Given the description of an element on the screen output the (x, y) to click on. 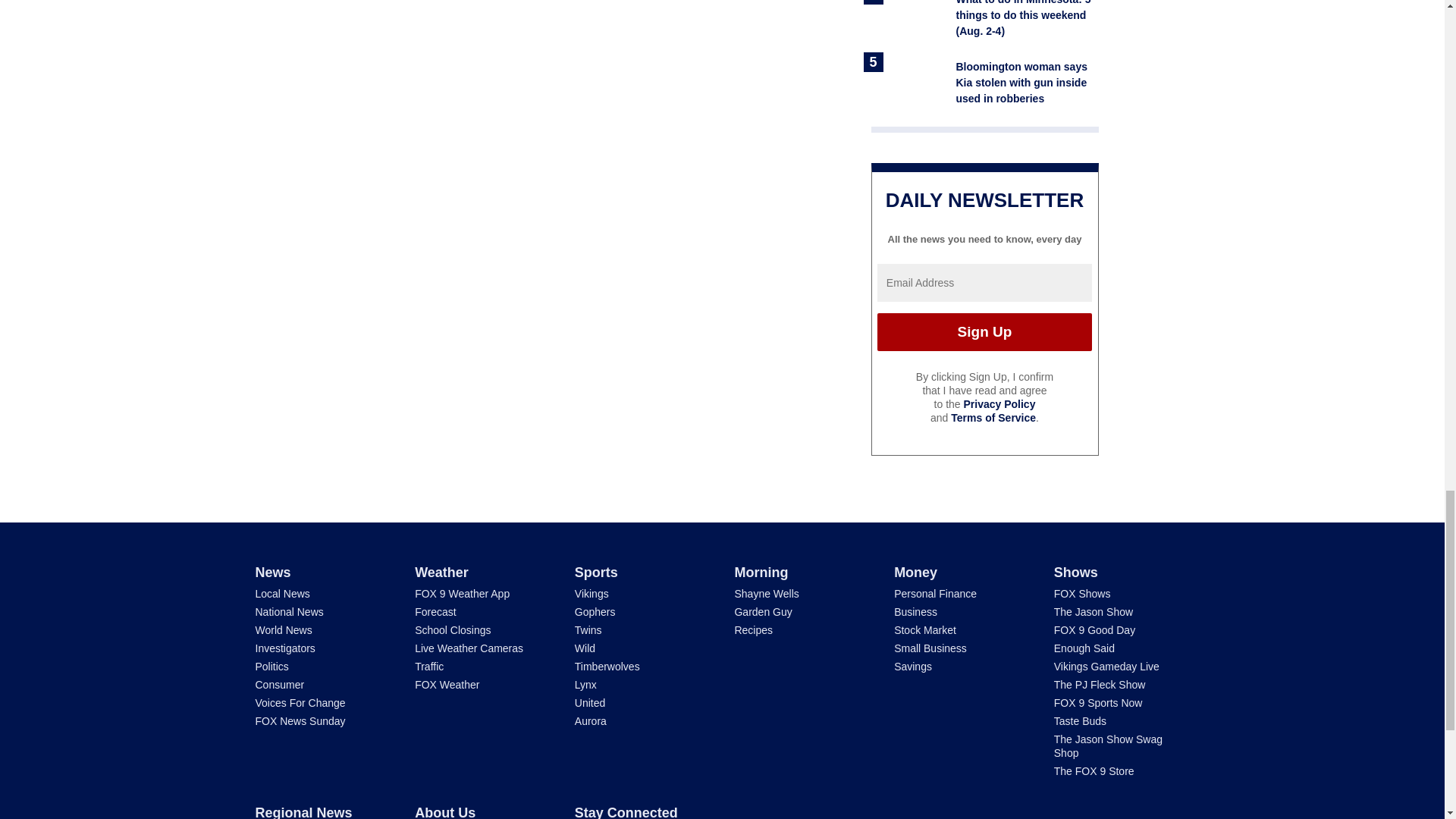
Sign Up (984, 331)
